Given the description of an element on the screen output the (x, y) to click on. 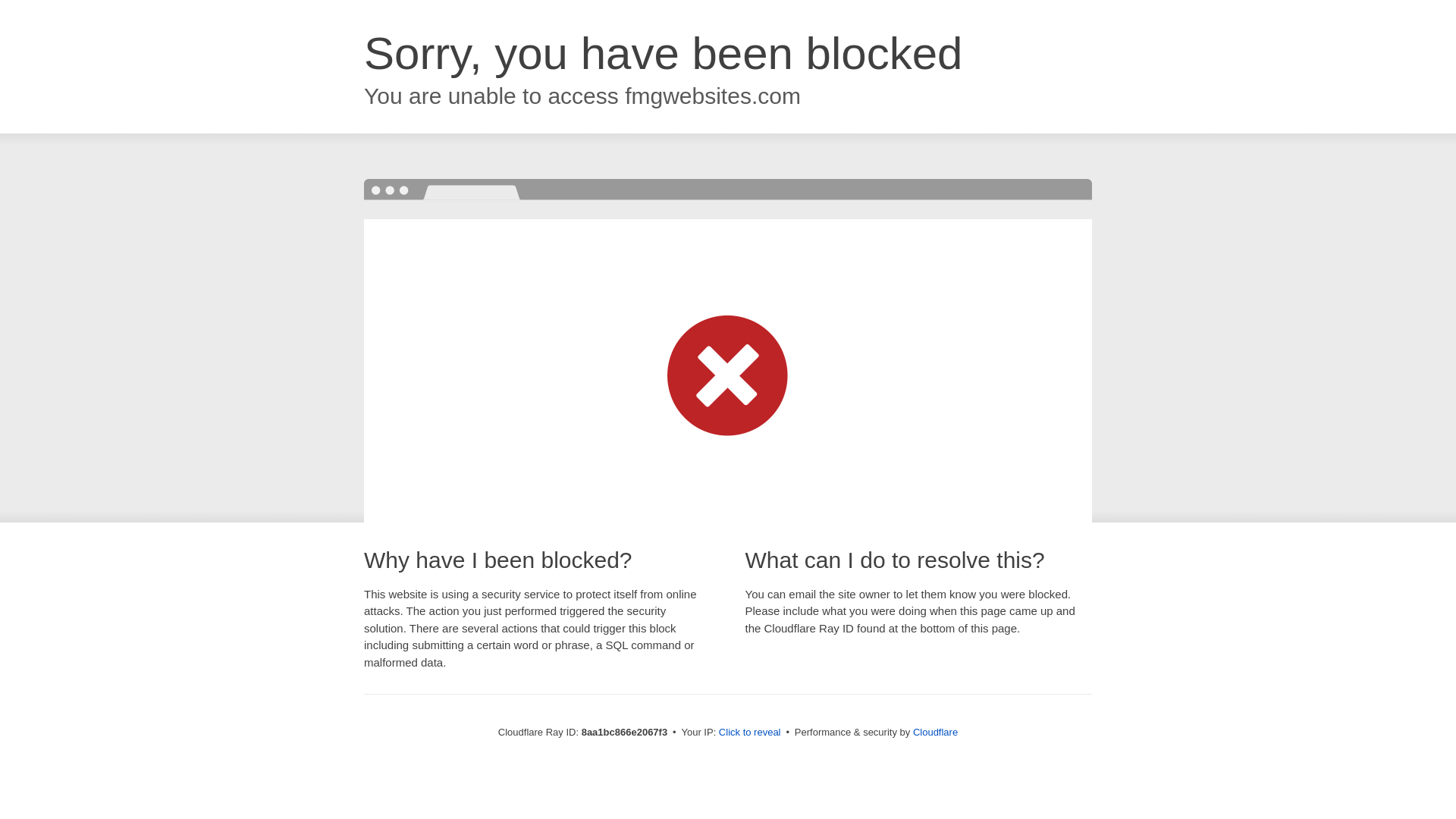
Cloudflare (935, 731)
Click to reveal (749, 732)
